Given the description of an element on the screen output the (x, y) to click on. 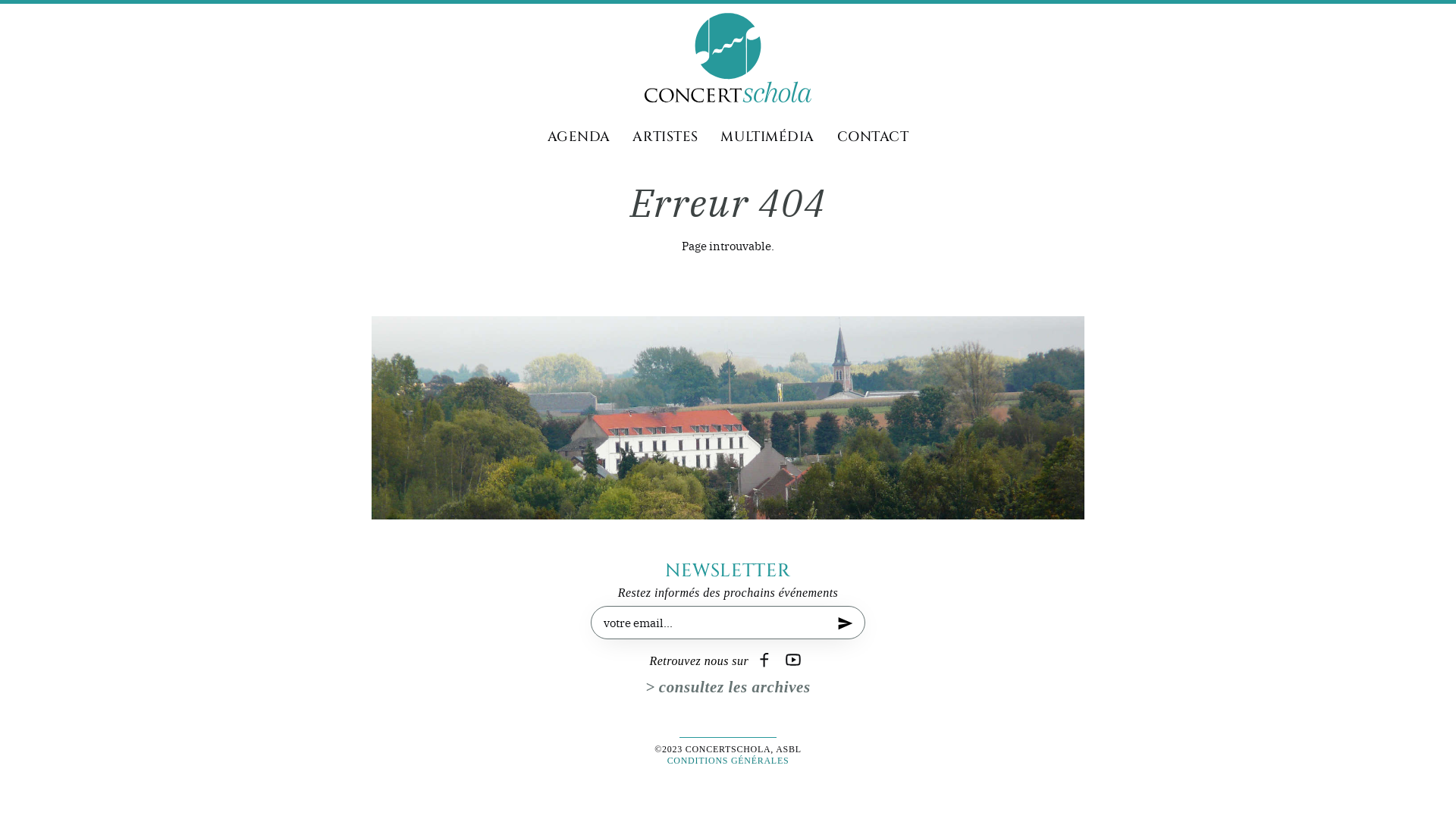
ARTISTES Element type: text (664, 137)
consultez les archives Element type: text (727, 689)
inscription Element type: text (845, 632)
AGENDA Element type: text (578, 137)
Youtube Element type: text (794, 661)
Facebook Element type: text (765, 661)
CONTACT Element type: text (873, 137)
